Given the description of an element on the screen output the (x, y) to click on. 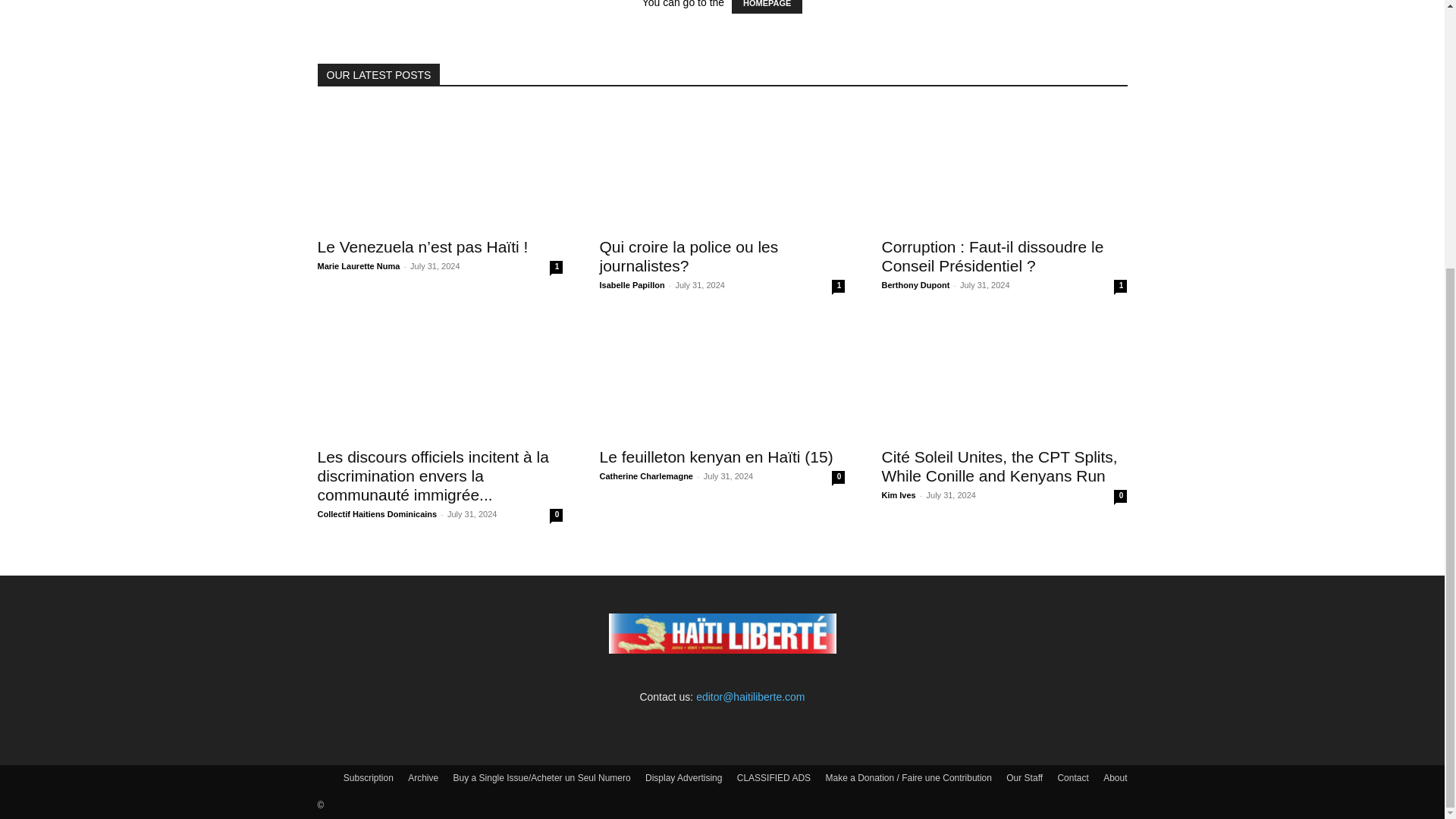
Qui croire la police ou les journalistes? (721, 166)
Qui croire la police ou les journalistes? (687, 256)
